Given the description of an element on the screen output the (x, y) to click on. 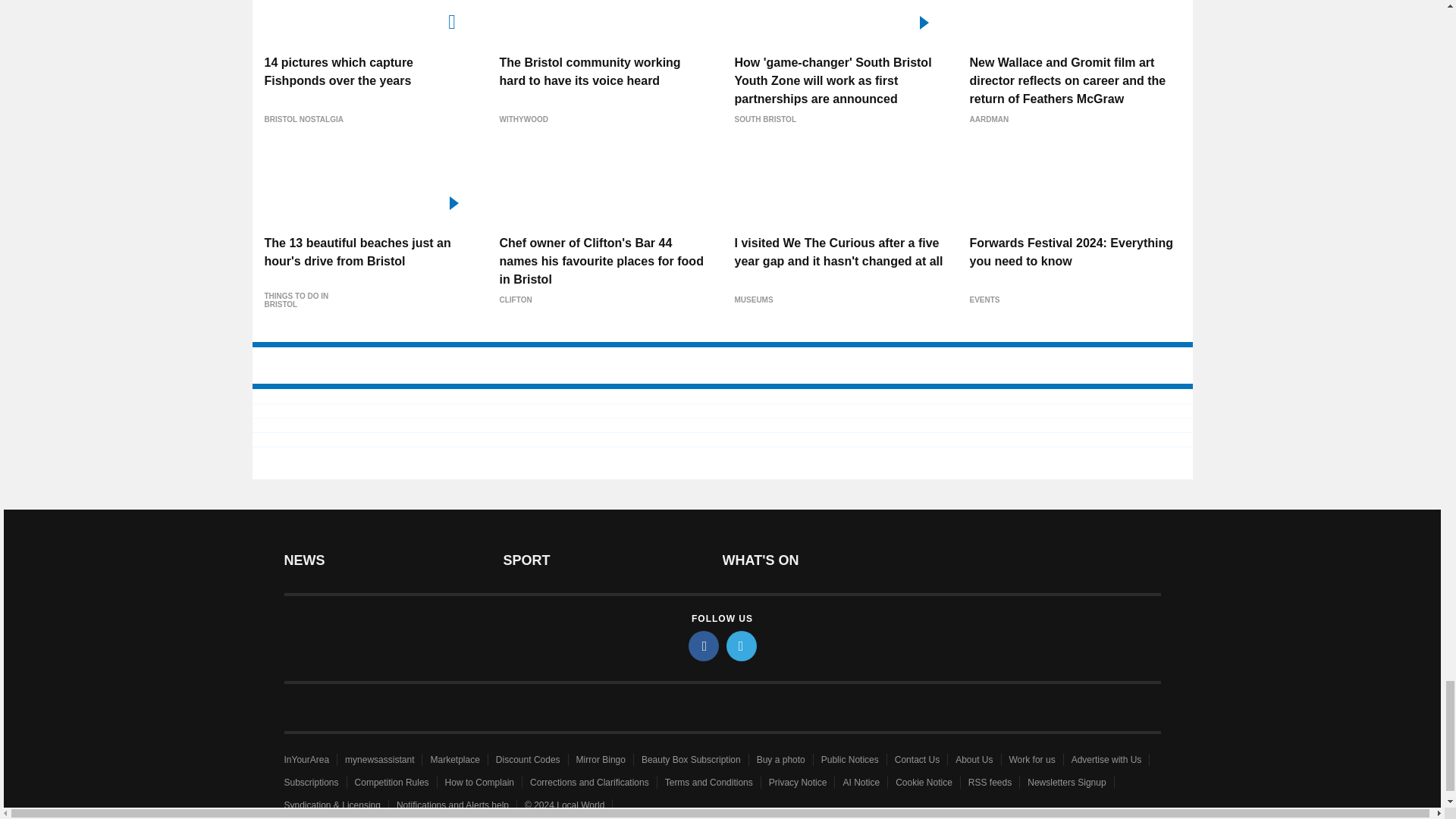
facebook (703, 645)
twitter (741, 645)
